Given the description of an element on the screen output the (x, y) to click on. 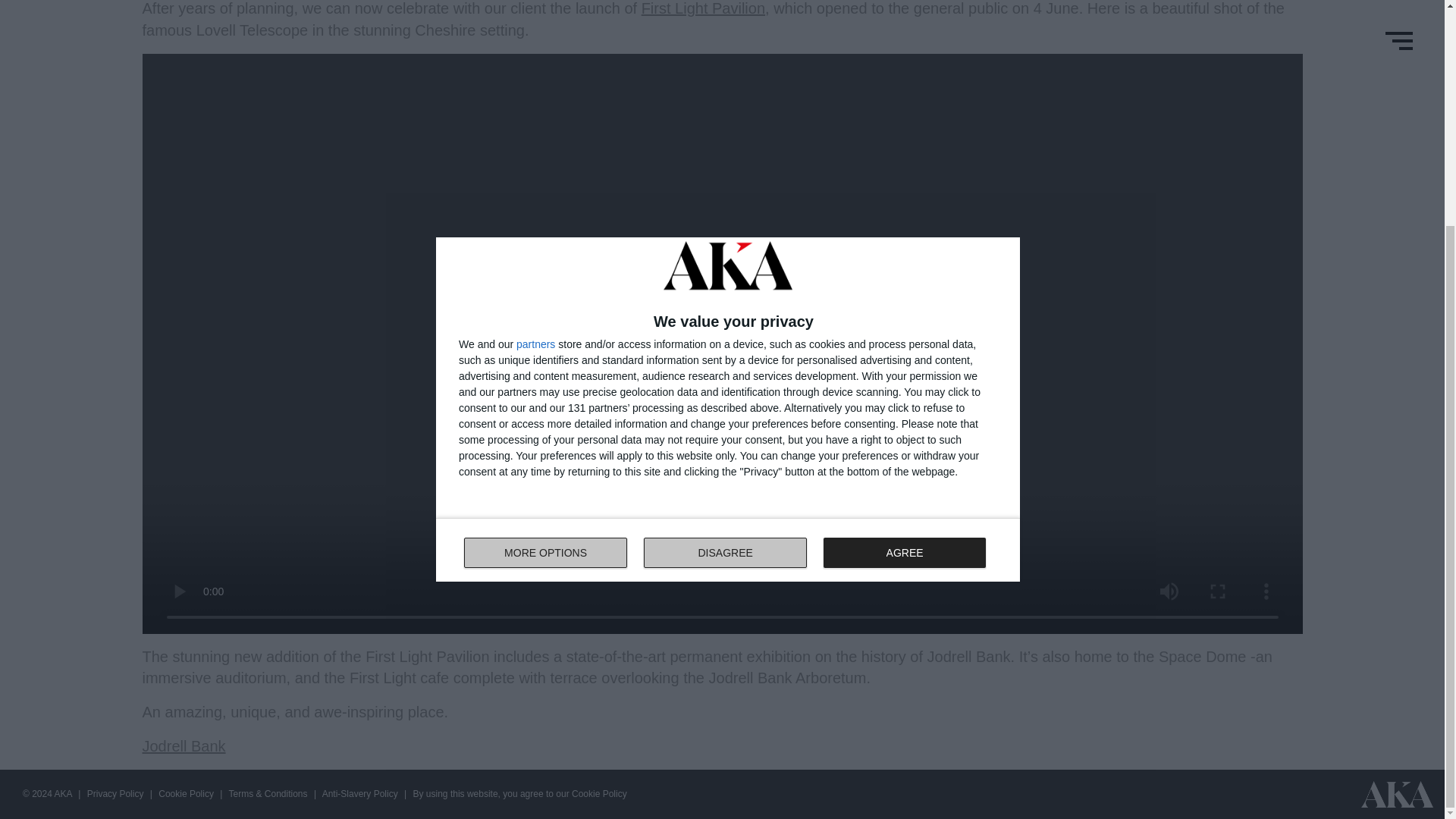
AGREE (904, 250)
DISAGREE (724, 250)
First Light Pavilion (703, 8)
Jodrell Bank (183, 745)
Cookie Policy (186, 793)
partners (535, 41)
Privacy Policy (117, 793)
Anti-Slavery Policy (727, 247)
MORE OPTIONS (360, 793)
